Given the description of an element on the screen output the (x, y) to click on. 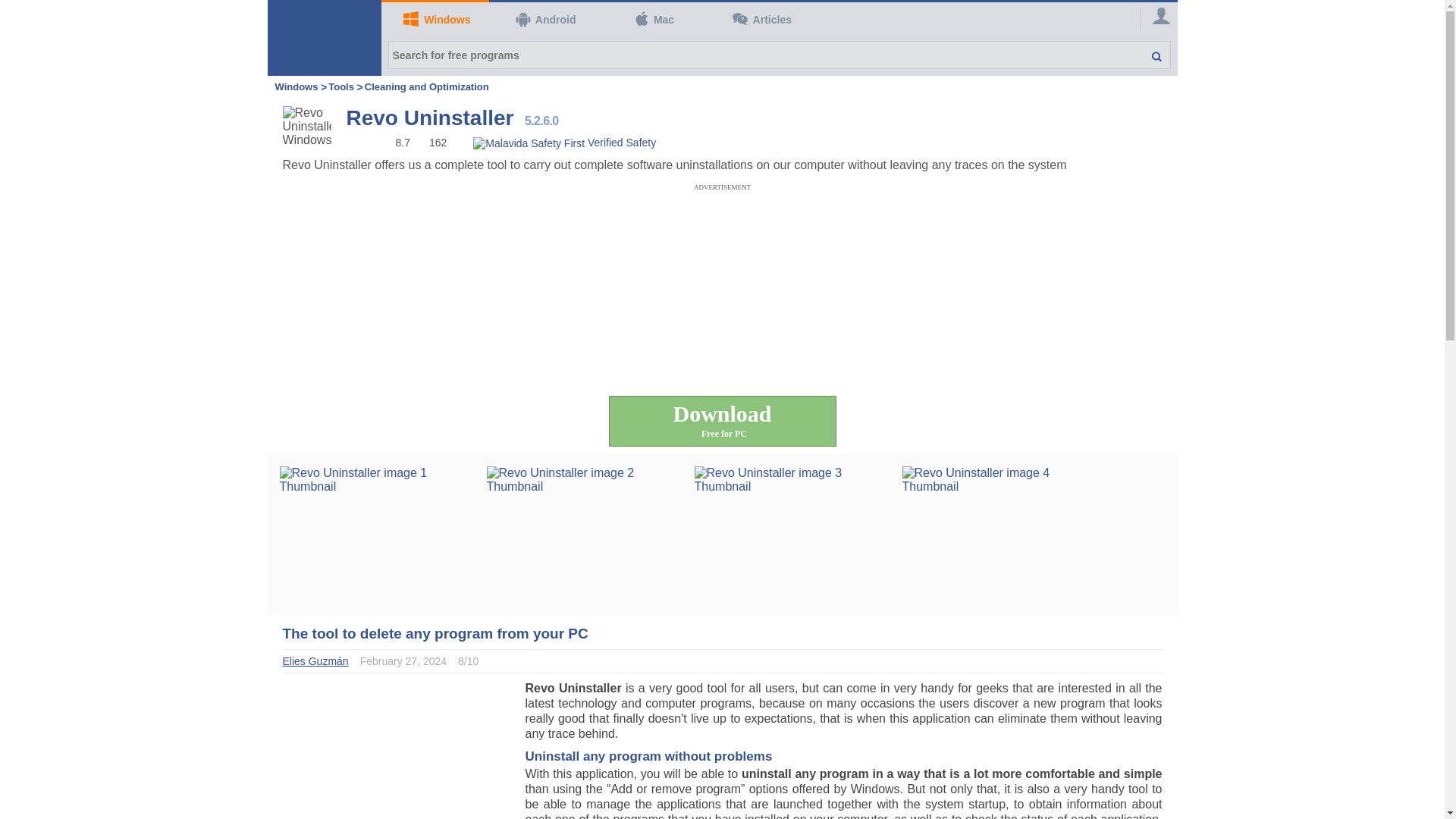
Cleaners and Optimizers for Windows (427, 86)
Windows (434, 19)
Revo Uninstaller image 4  (998, 534)
Tools (342, 86)
Windows (296, 86)
QAs (760, 19)
Download programs free for Android (543, 19)
Malavida Safety First (564, 141)
Windows (296, 86)
